Given the description of an element on the screen output the (x, y) to click on. 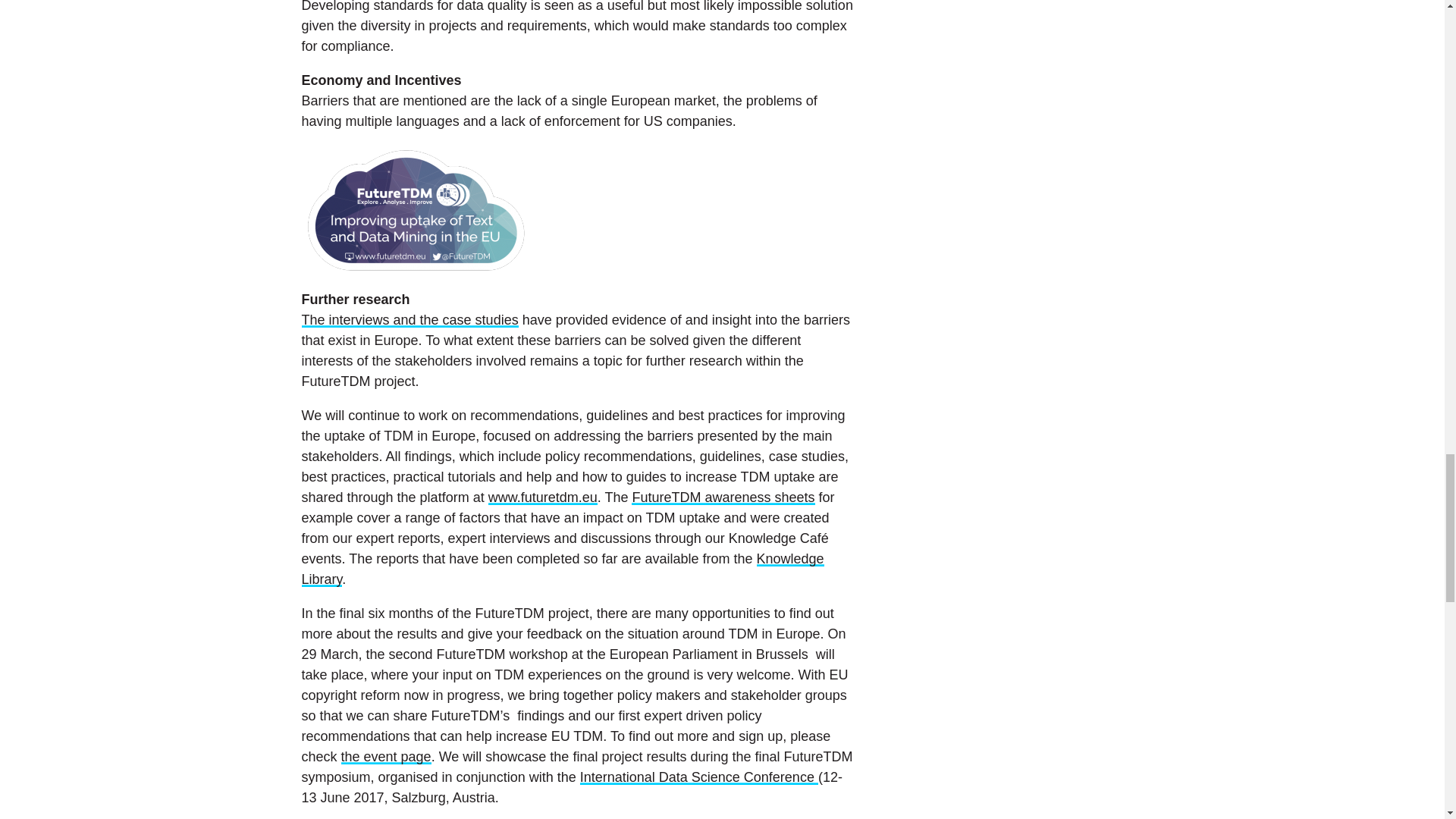
The interviews and the case studies (409, 319)
FutureTDM awareness sheets (722, 497)
Knowledge Library (562, 569)
the event page (385, 756)
www.futuretdm.eu (541, 497)
